Given the description of an element on the screen output the (x, y) to click on. 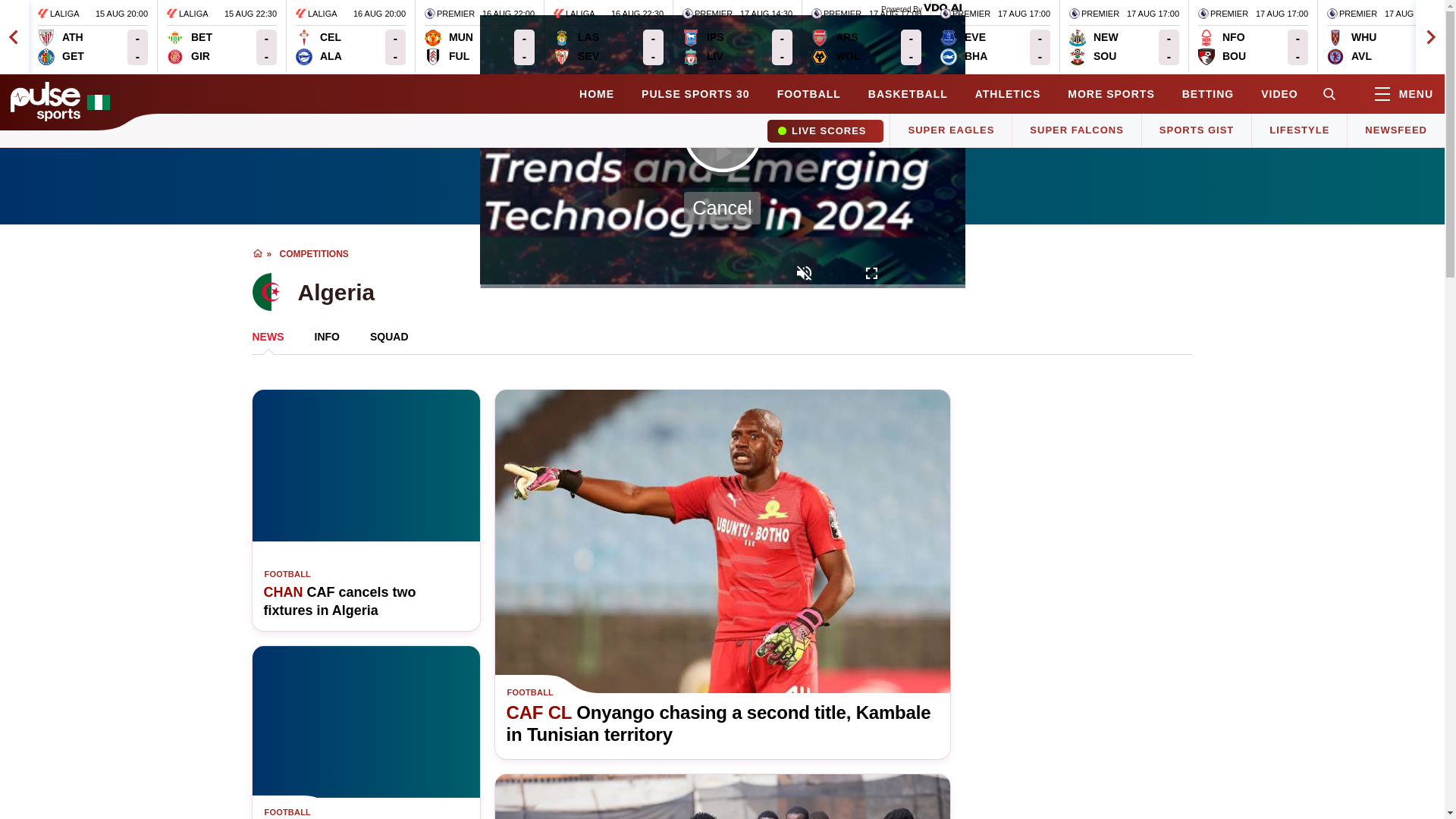
Fullscreen (871, 274)
Cancel (722, 207)
Play (221, 36)
Unmute (737, 36)
Unmute (349, 36)
